Given the description of an element on the screen output the (x, y) to click on. 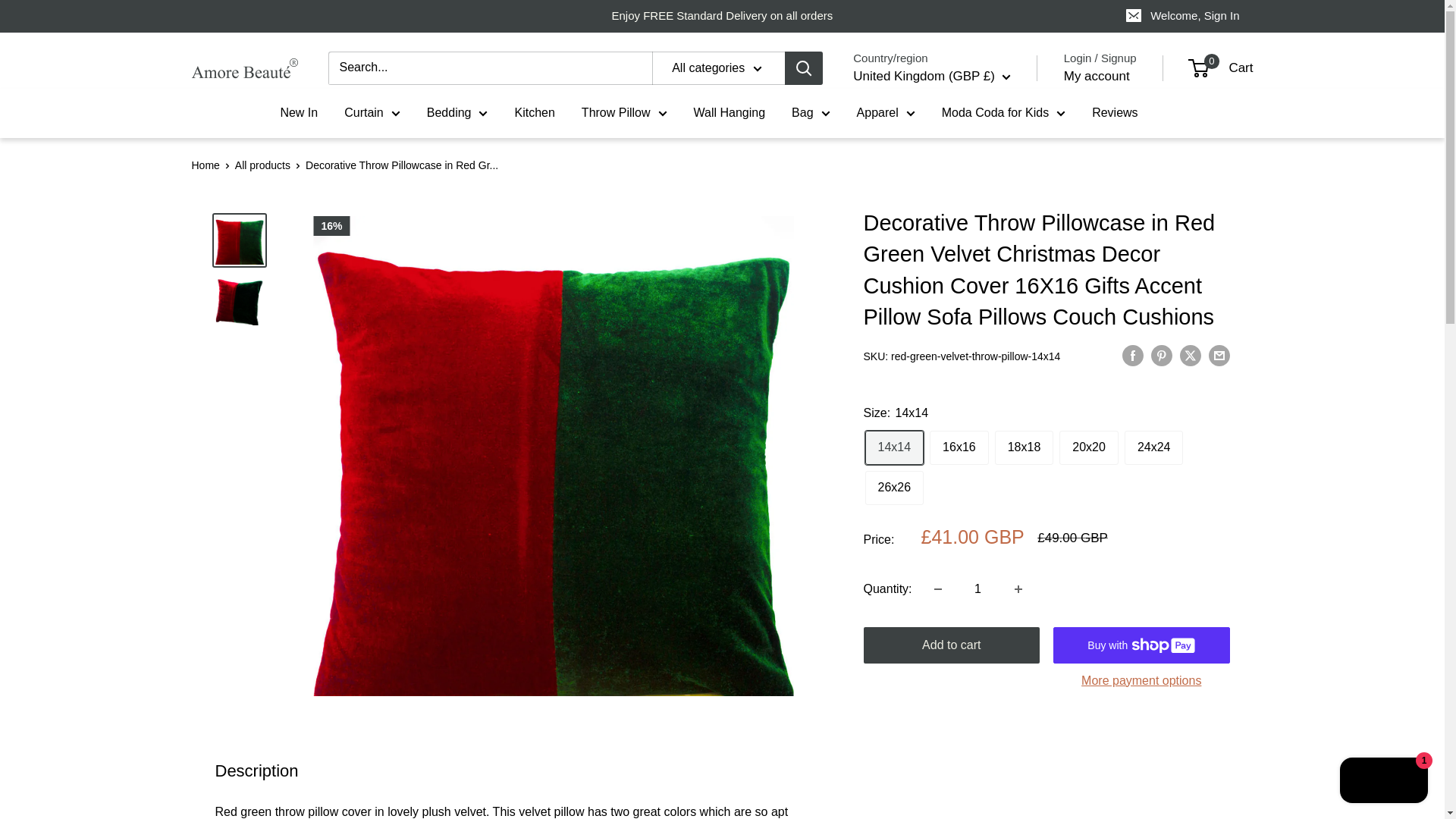
AL (881, 172)
DZ (881, 196)
26x26 (893, 487)
AU (881, 404)
AC (881, 380)
18x18 (1024, 447)
AW (881, 358)
AM (881, 335)
BS (881, 473)
AI (881, 265)
AZ (881, 451)
AF (881, 126)
16x16 (959, 447)
14x14 (893, 447)
AR (881, 311)
